Given the description of an element on the screen output the (x, y) to click on. 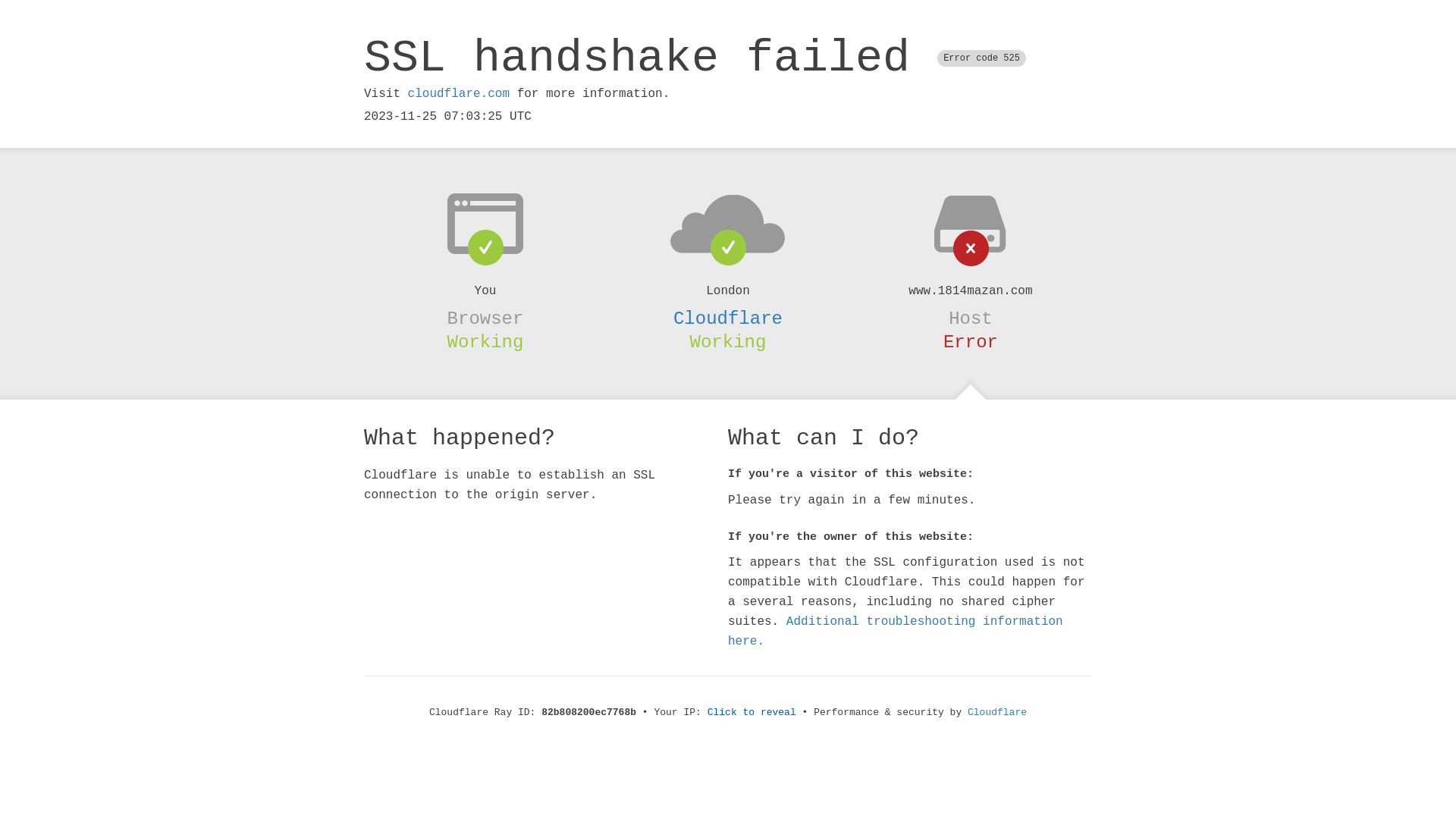
Additional troubleshooting information here. Element type: text (895, 631)
Cloudflare Element type: text (727, 318)
Cloudflare Element type: text (996, 712)
Click to reveal Element type: text (751, 712)
cloudflare.com Element type: text (458, 93)
